Given the description of an element on the screen output the (x, y) to click on. 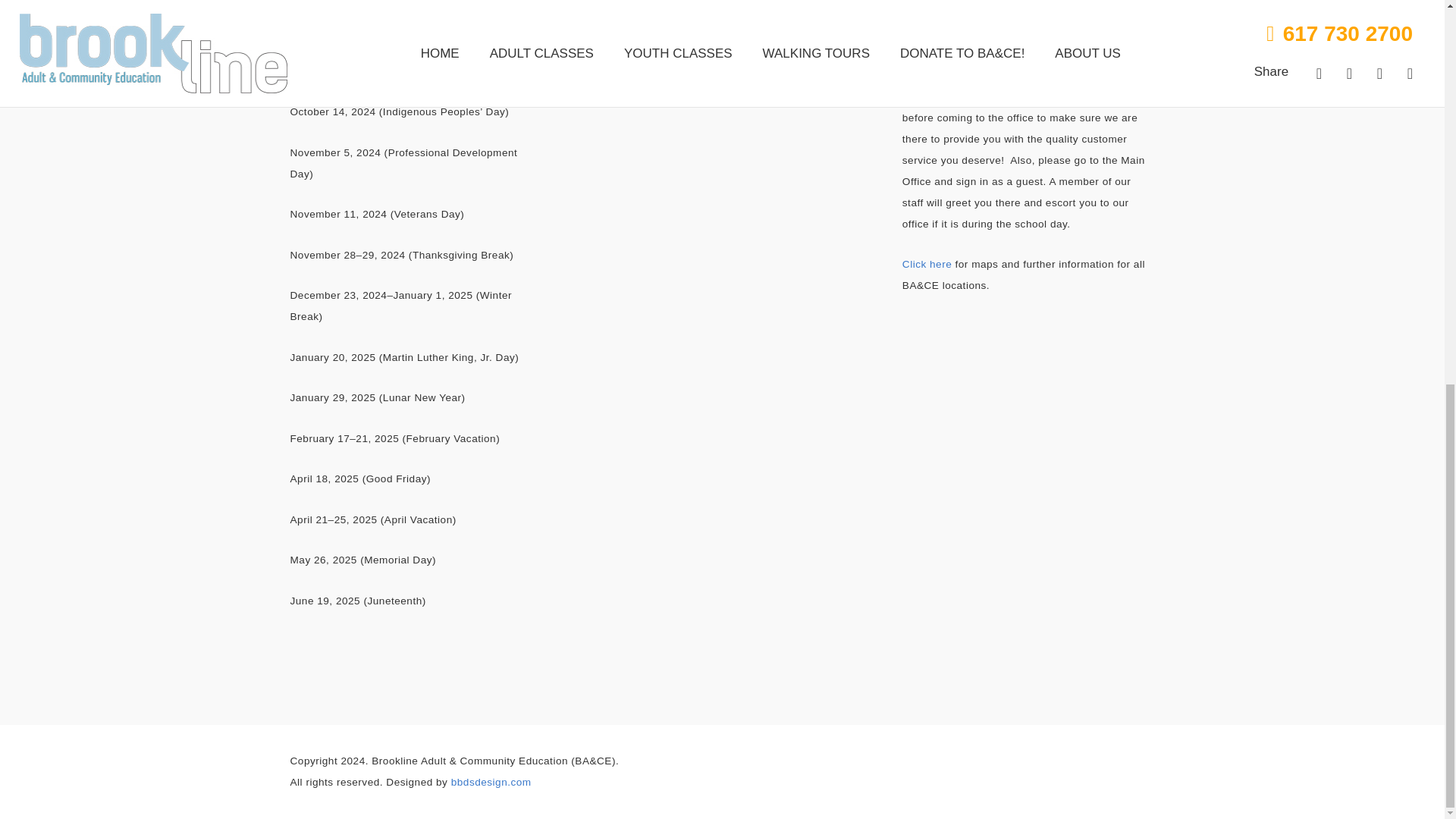
Back to top (1413, 124)
